Given the description of an element on the screen output the (x, y) to click on. 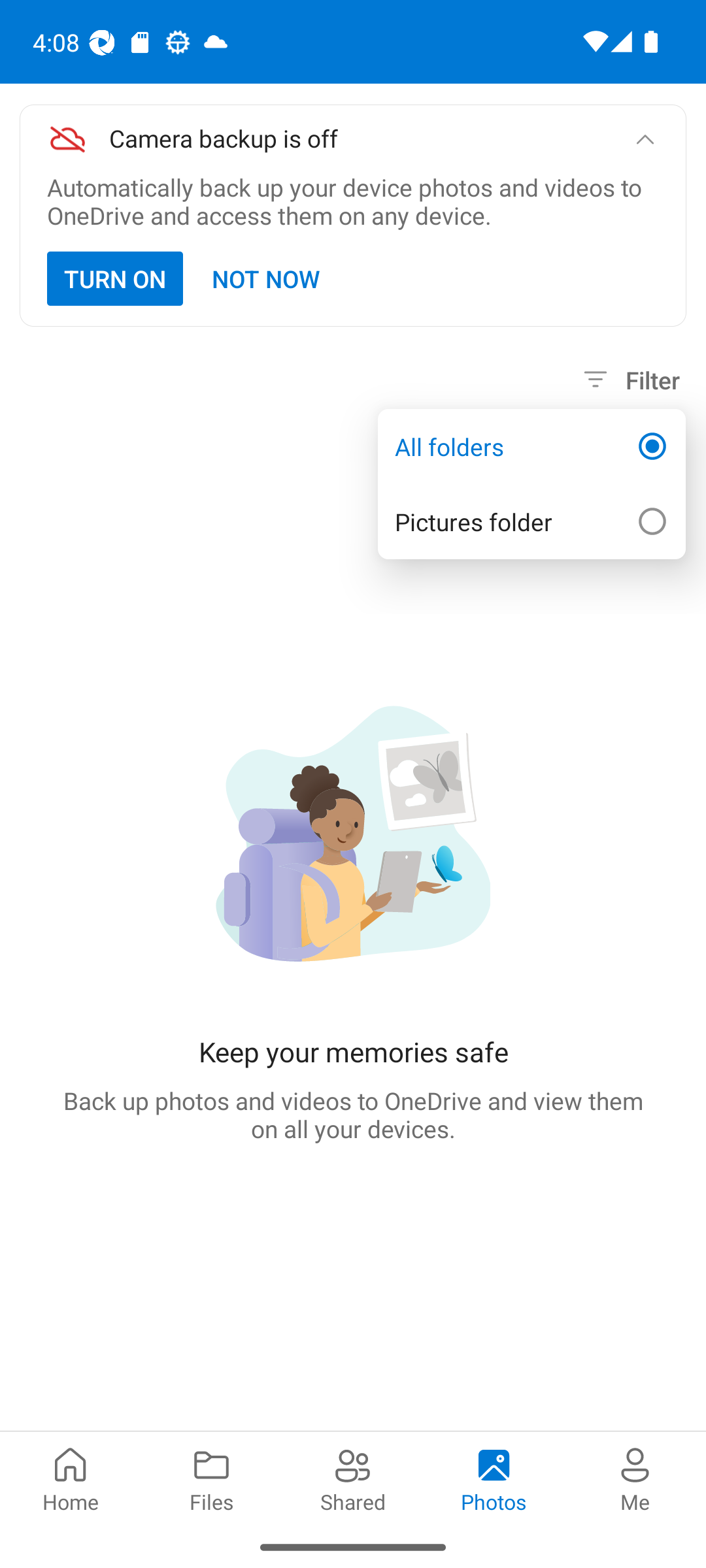
All folders (531, 446)
Pictures folder (531, 521)
